Given the description of an element on the screen output the (x, y) to click on. 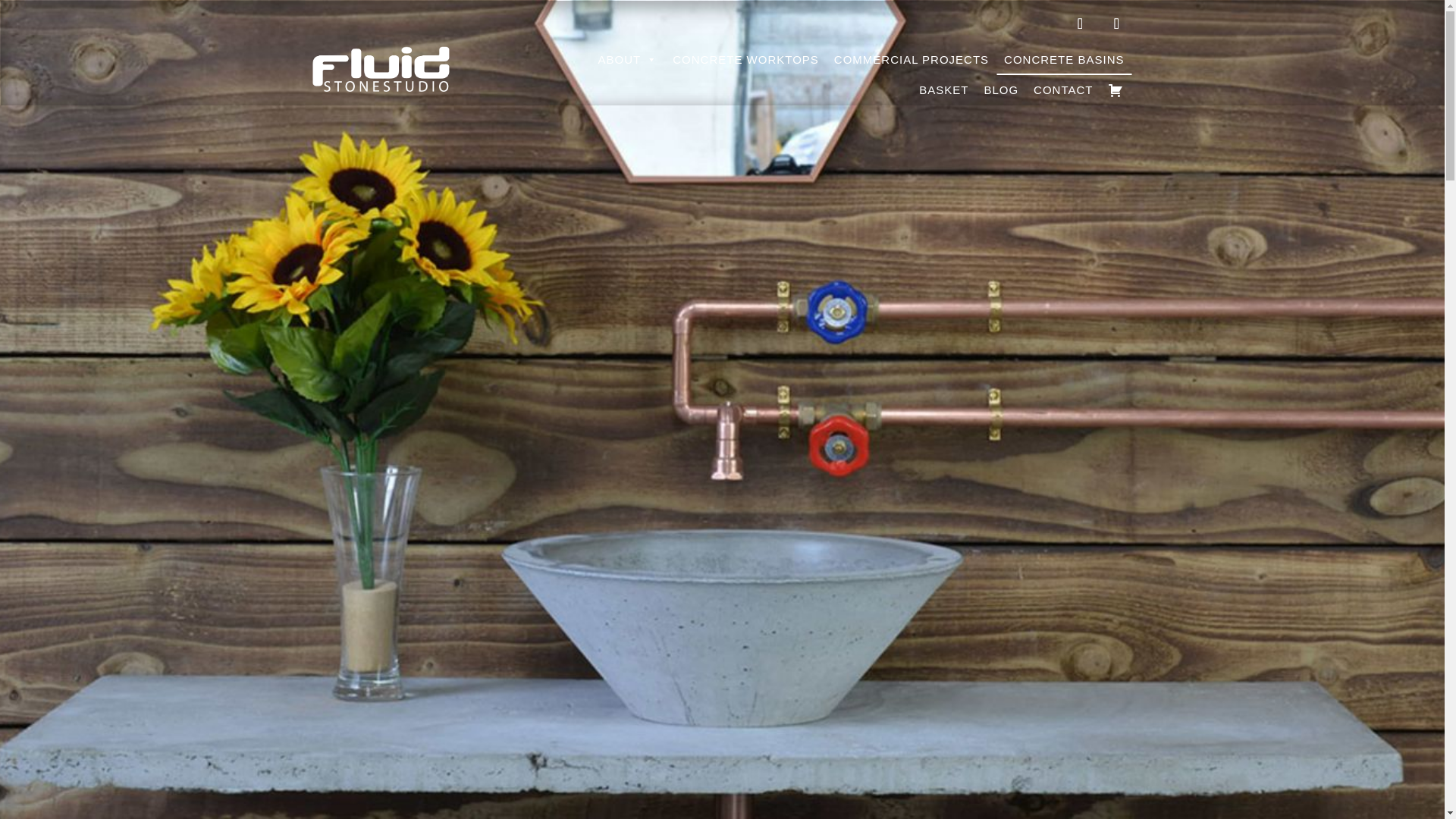
CONCRETE BASINS (1063, 60)
CONTACT (1063, 90)
CONCRETE WORKTOPS (746, 60)
ABOUT (628, 60)
Follow on Instagram (1115, 23)
white-logo-large (380, 56)
BLOG (1000, 90)
Follow on Facebook (1079, 23)
COMMERCIAL PROJECTS (911, 60)
BASKET (943, 90)
